Given the description of an element on the screen output the (x, y) to click on. 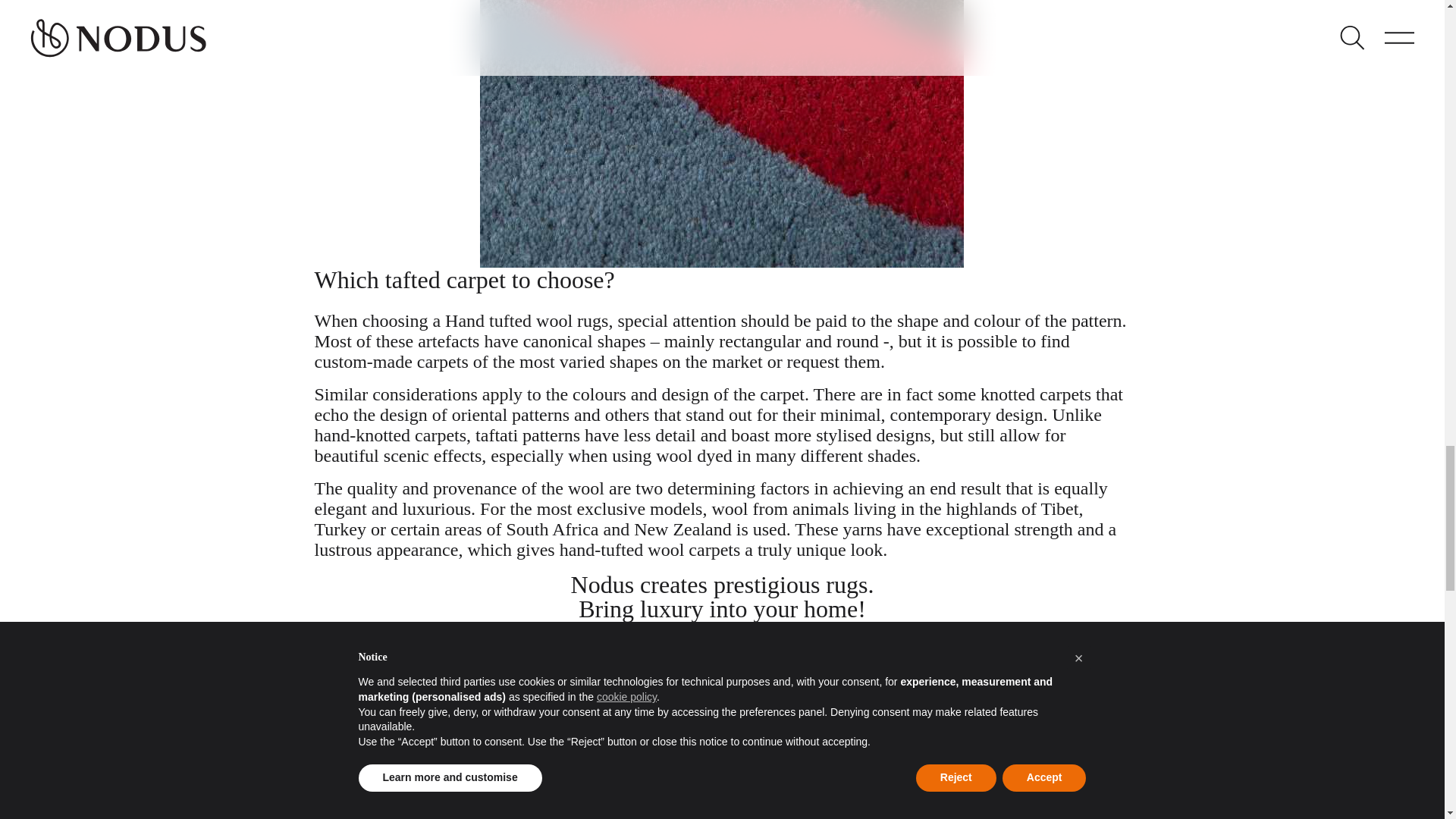
Contact NODUS! (722, 633)
